Given the description of an element on the screen output the (x, y) to click on. 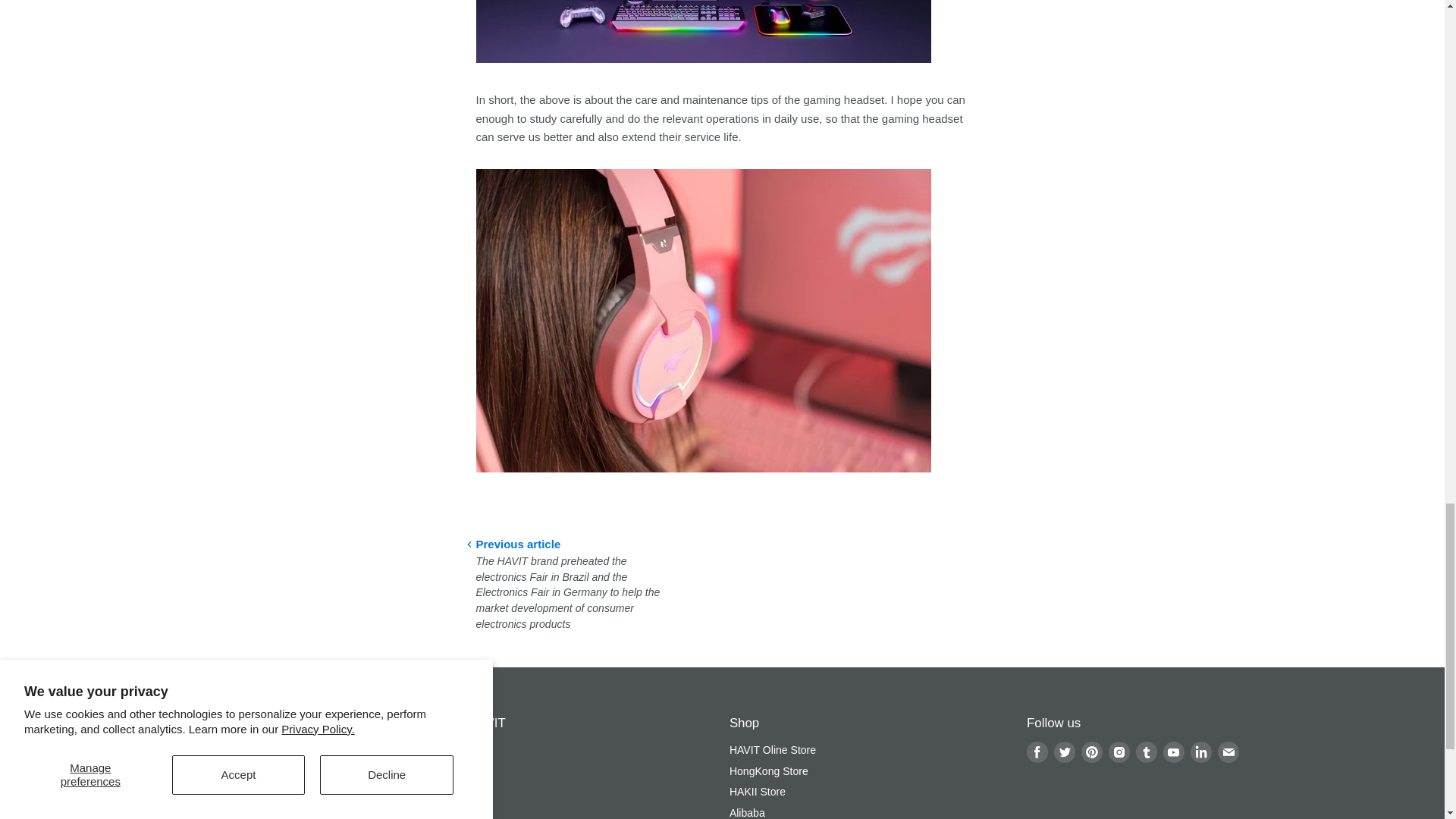
LinkedIn (1201, 752)
Twitter (1064, 752)
Pinterest (1091, 752)
Tumblr (1146, 752)
Youtube (1174, 752)
Instagram (1118, 752)
Facebook (1037, 752)
Email (1228, 752)
